Given the description of an element on the screen output the (x, y) to click on. 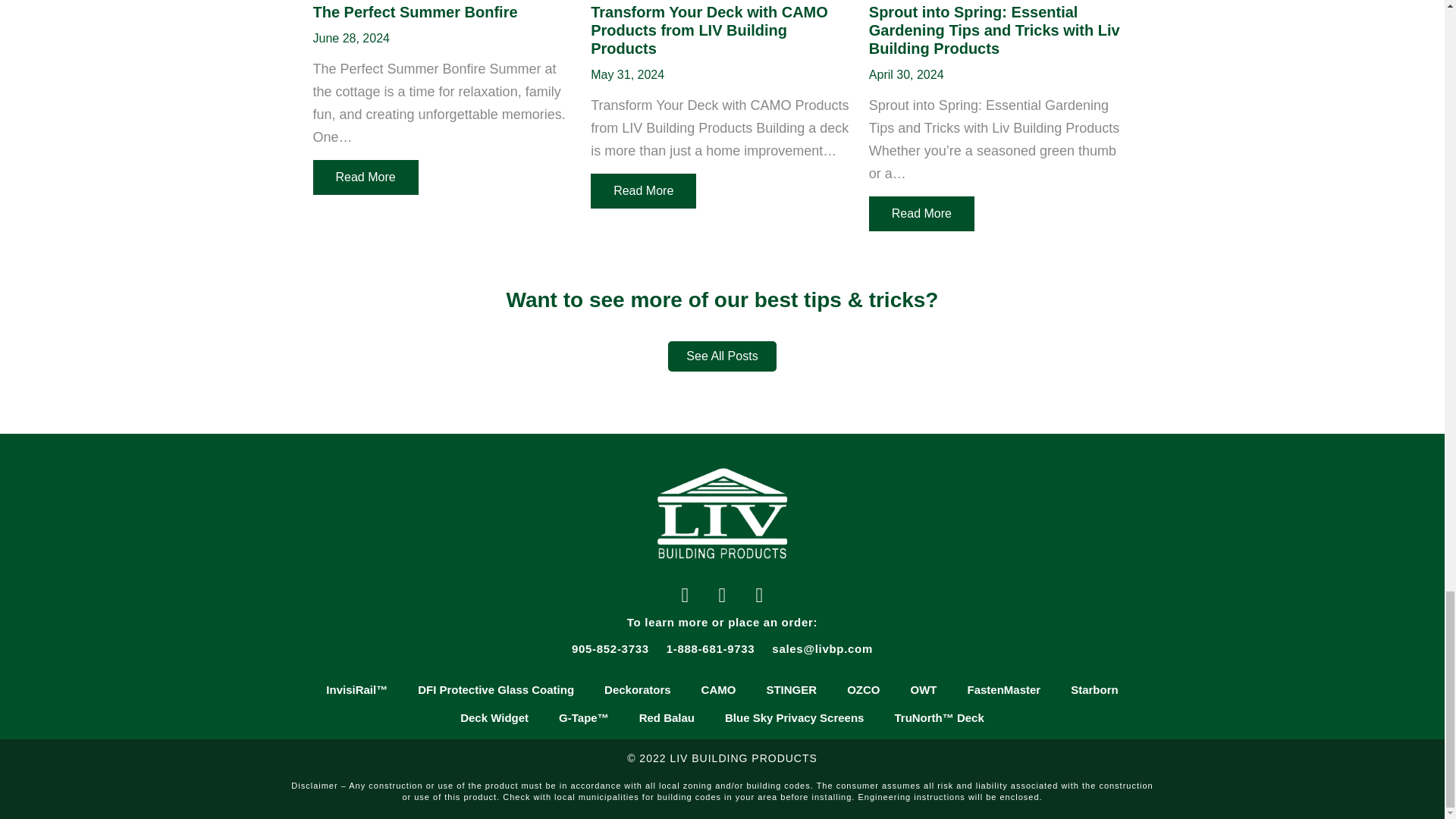
2024-04-30T10:23:55-04:00 (906, 74)
2024-05-31T12:28:05-04:00 (627, 74)
2024-06-28T08:18:56-04:00 (350, 38)
